Given the description of an element on the screen output the (x, y) to click on. 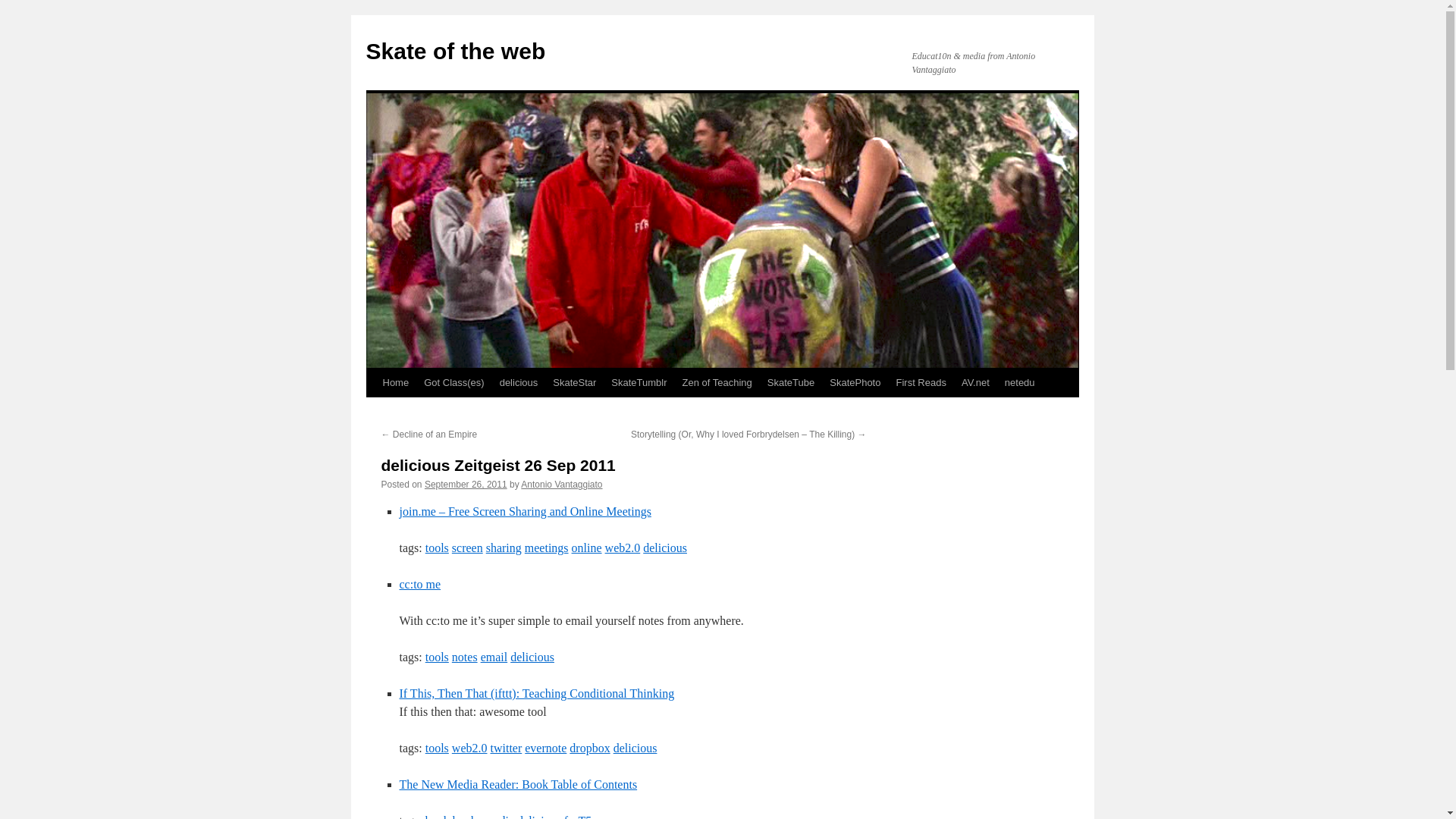
sharing (503, 547)
Zen of Teaching (717, 382)
dropbox (589, 748)
twitter (505, 748)
Antonio Vantaggiato (561, 484)
View all posts by Antonio Vantaggiato (561, 484)
Skate of the web (454, 50)
SkateTumblr (639, 382)
delicious (635, 748)
September 26, 2011 (465, 484)
